Given the description of an element on the screen output the (x, y) to click on. 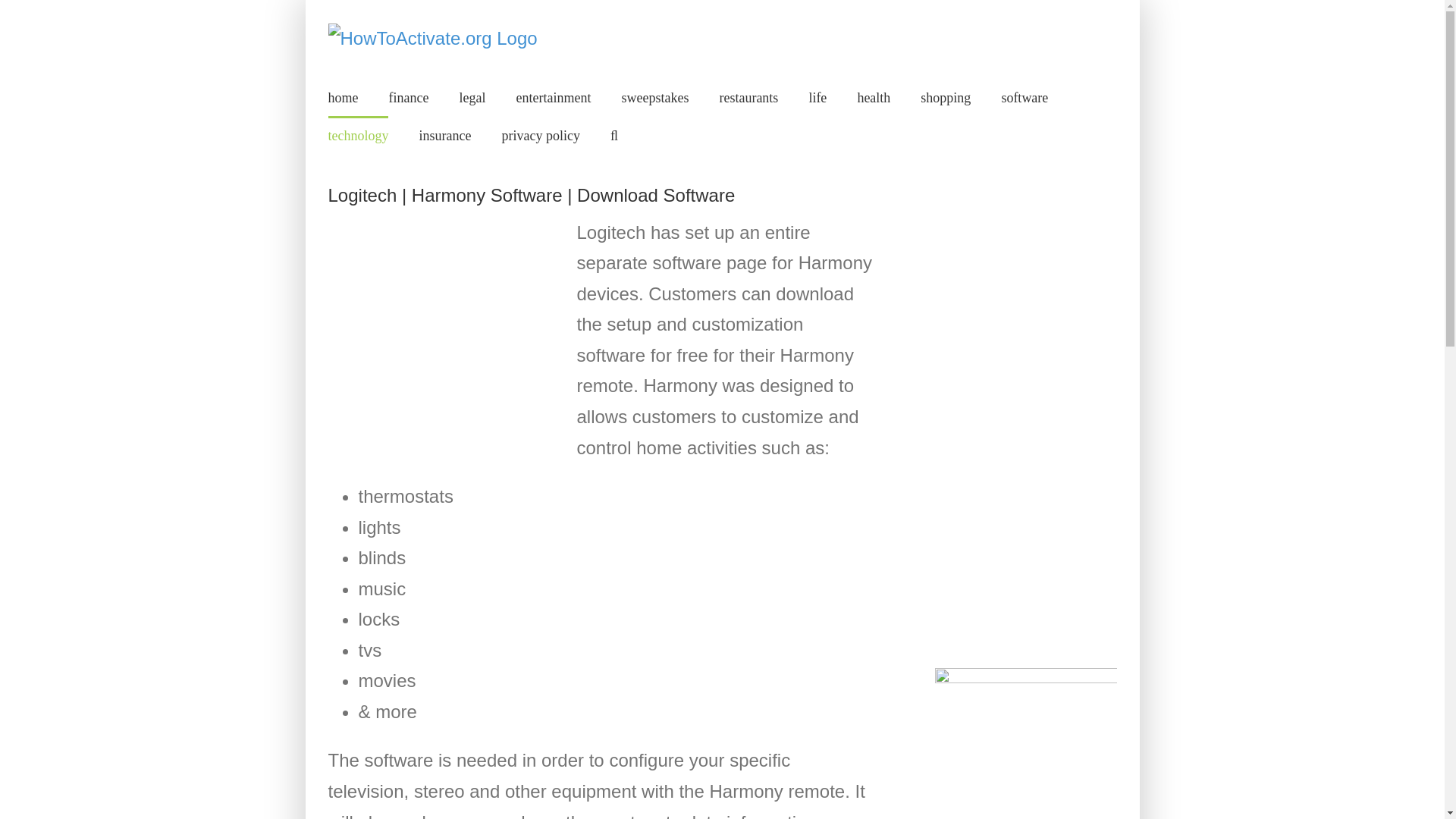
privacy policy (539, 134)
sweepstakes (654, 96)
finance (408, 96)
Advertisement (440, 333)
entertainment (553, 96)
technology (357, 134)
restaurants (748, 96)
insurance (444, 134)
shopping (945, 96)
software (1024, 96)
